Given the description of an element on the screen output the (x, y) to click on. 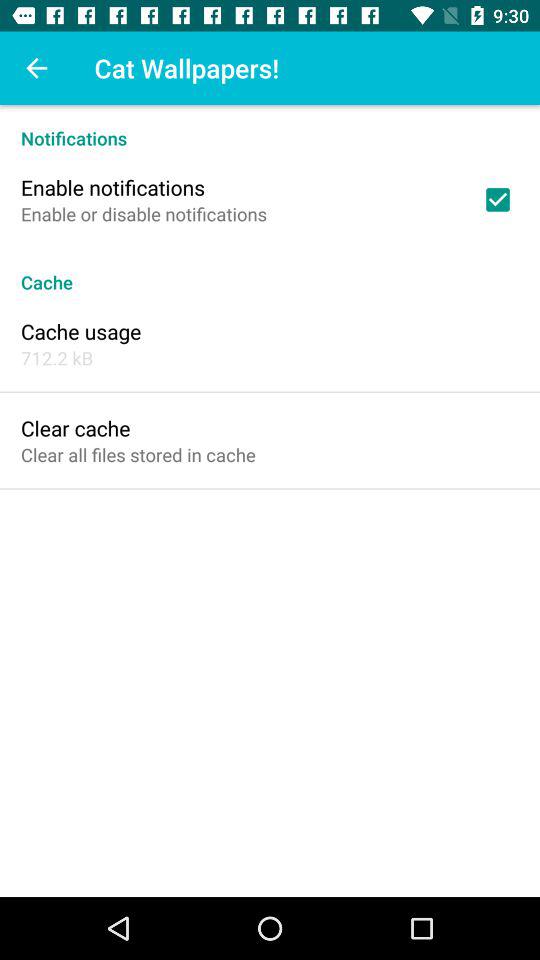
select item next to the enable or disable item (497, 199)
